Given the description of an element on the screen output the (x, y) to click on. 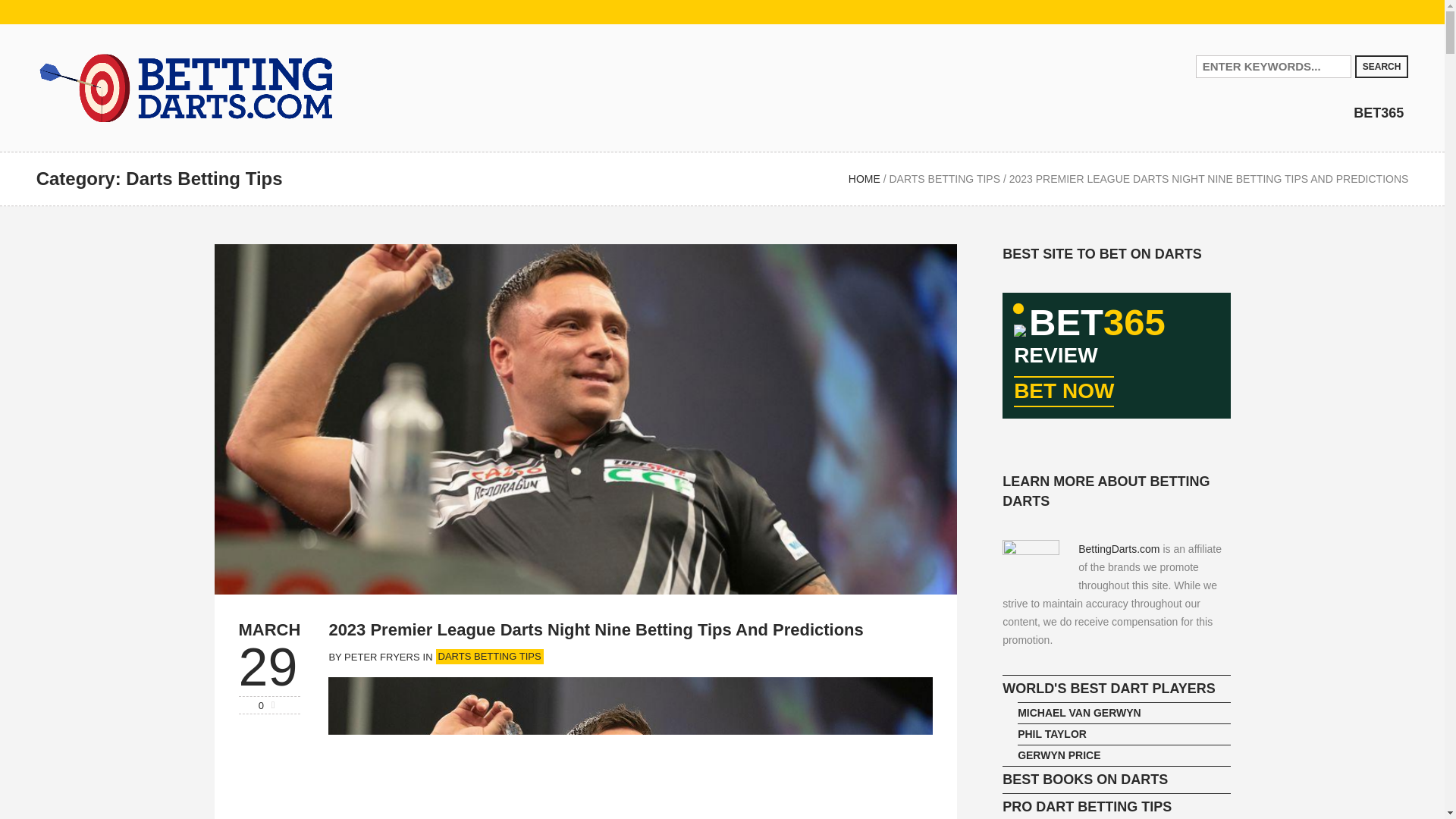
0 (270, 704)
Posts by Peter Fryers (381, 657)
DARTS BETTING TIPS (489, 656)
BET365 (1378, 111)
March 29, 2023 (268, 629)
SEARCH (1382, 65)
HOME (864, 178)
PETER FRYERS (381, 657)
DARTS BETTING TIPS (944, 178)
